Given the description of an element on the screen output the (x, y) to click on. 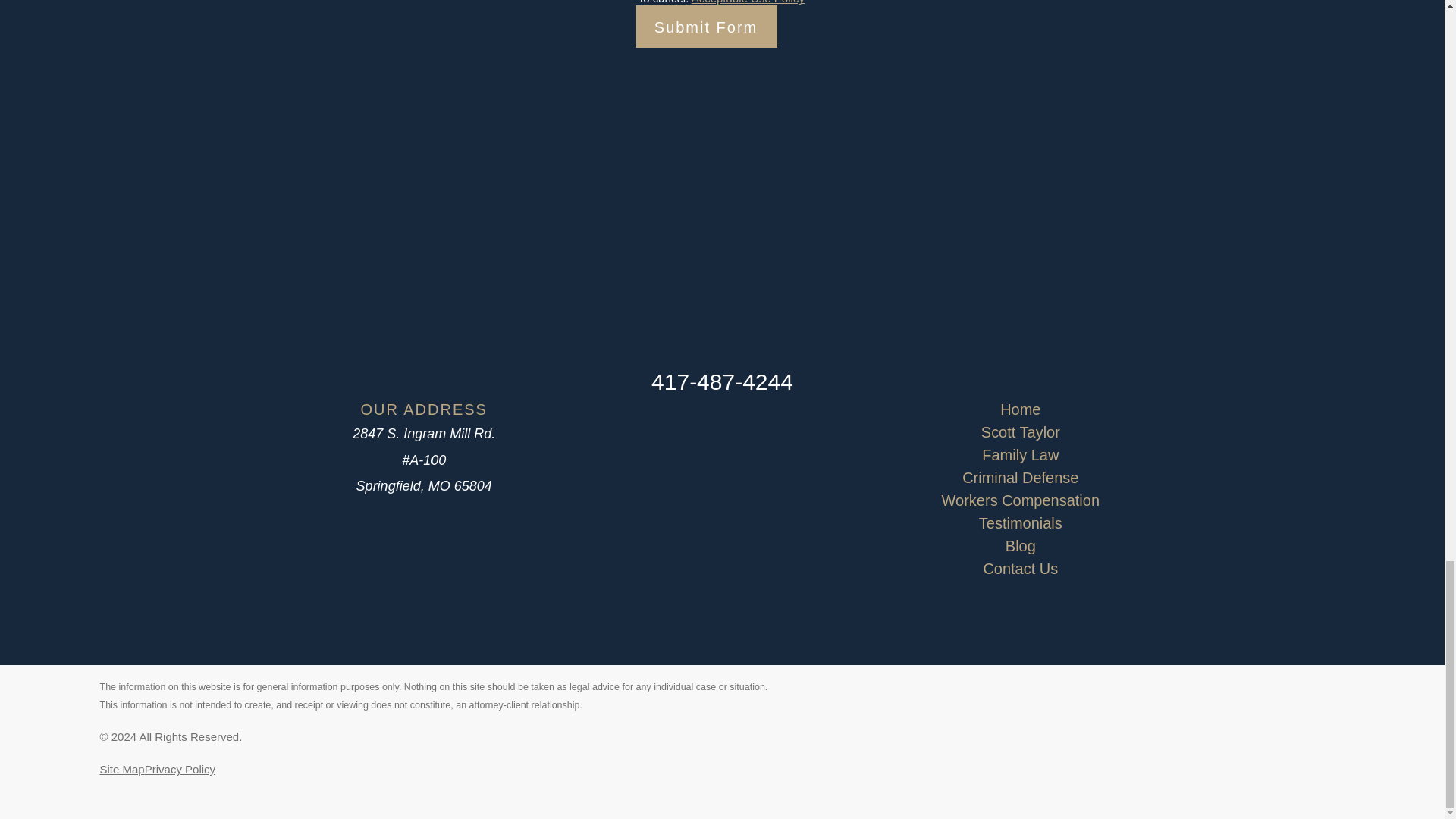
Workers Compensation (1019, 499)
Submit Form (722, 25)
Contact Us (1019, 568)
417-487-4244 (721, 381)
Privacy Policy (179, 768)
Testimonials (1019, 522)
Family Law (1019, 454)
Acceptable Use Policy (748, 2)
Blog (1019, 545)
Criminal Defense (1019, 477)
